Given the description of an element on the screen output the (x, y) to click on. 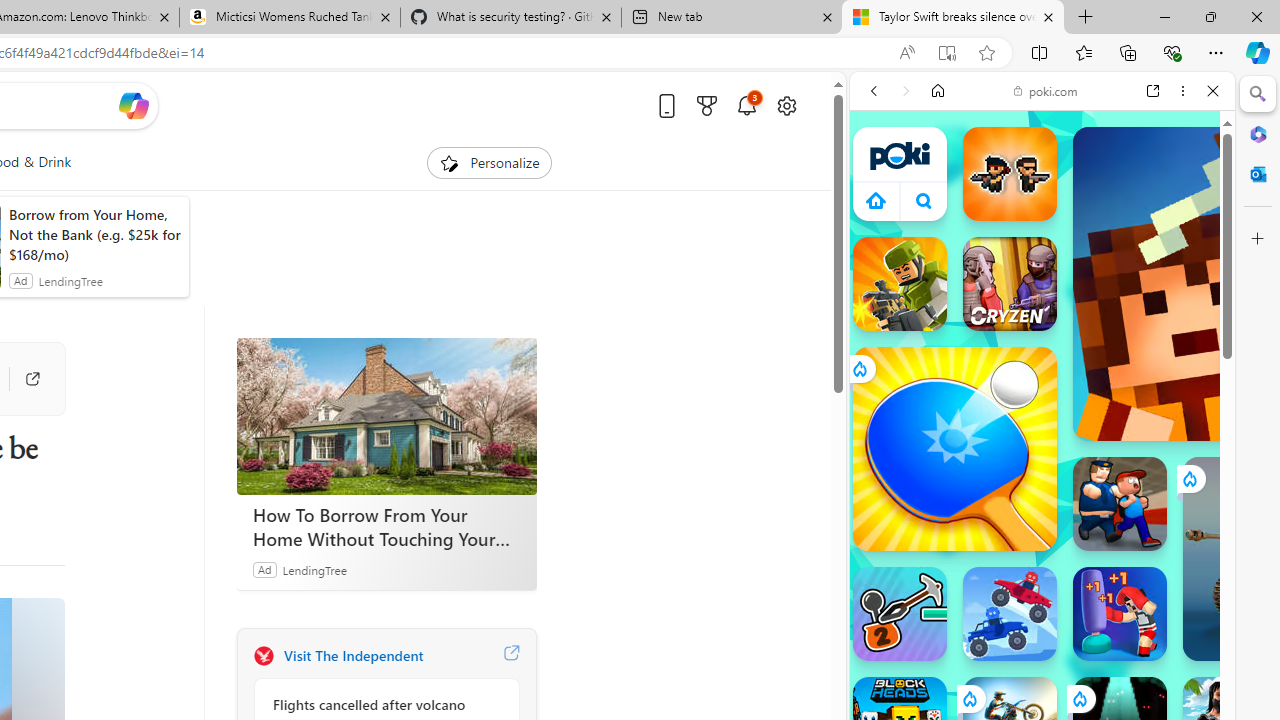
Zombie Rush Zombie Rush (1009, 173)
Escape From School Escape From School (1119, 503)
Cryzen.io Cryzen.io (1009, 283)
Two Player Games (1042, 567)
Car Games (1042, 469)
Battle Wheels Battle Wheels (1009, 613)
Car Games (1042, 470)
